Given the description of an element on the screen output the (x, y) to click on. 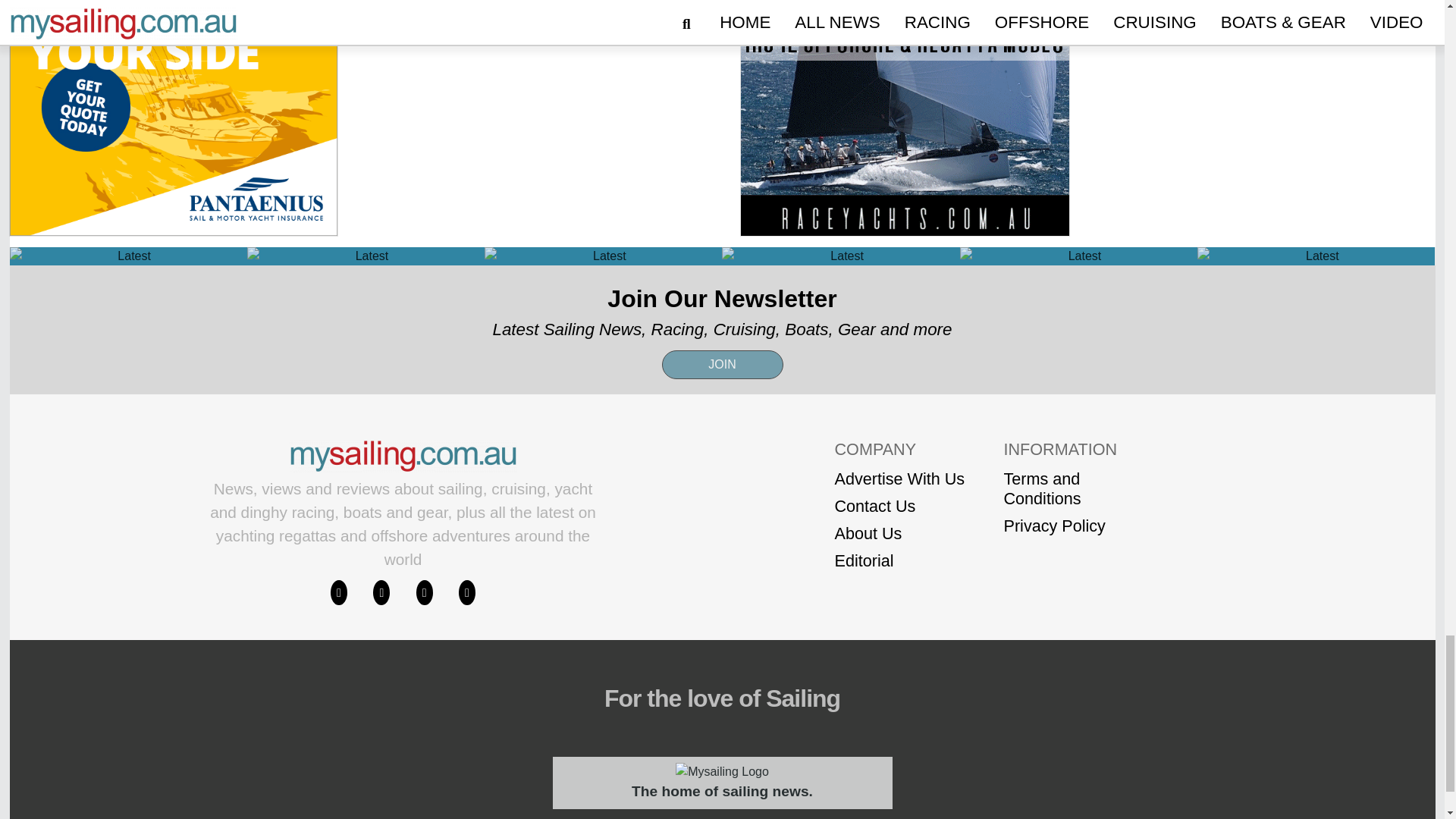
About Us (899, 533)
Contact Us (899, 506)
Advertise With Us (899, 478)
Editorial (899, 560)
